Given the description of an element on the screen output the (x, y) to click on. 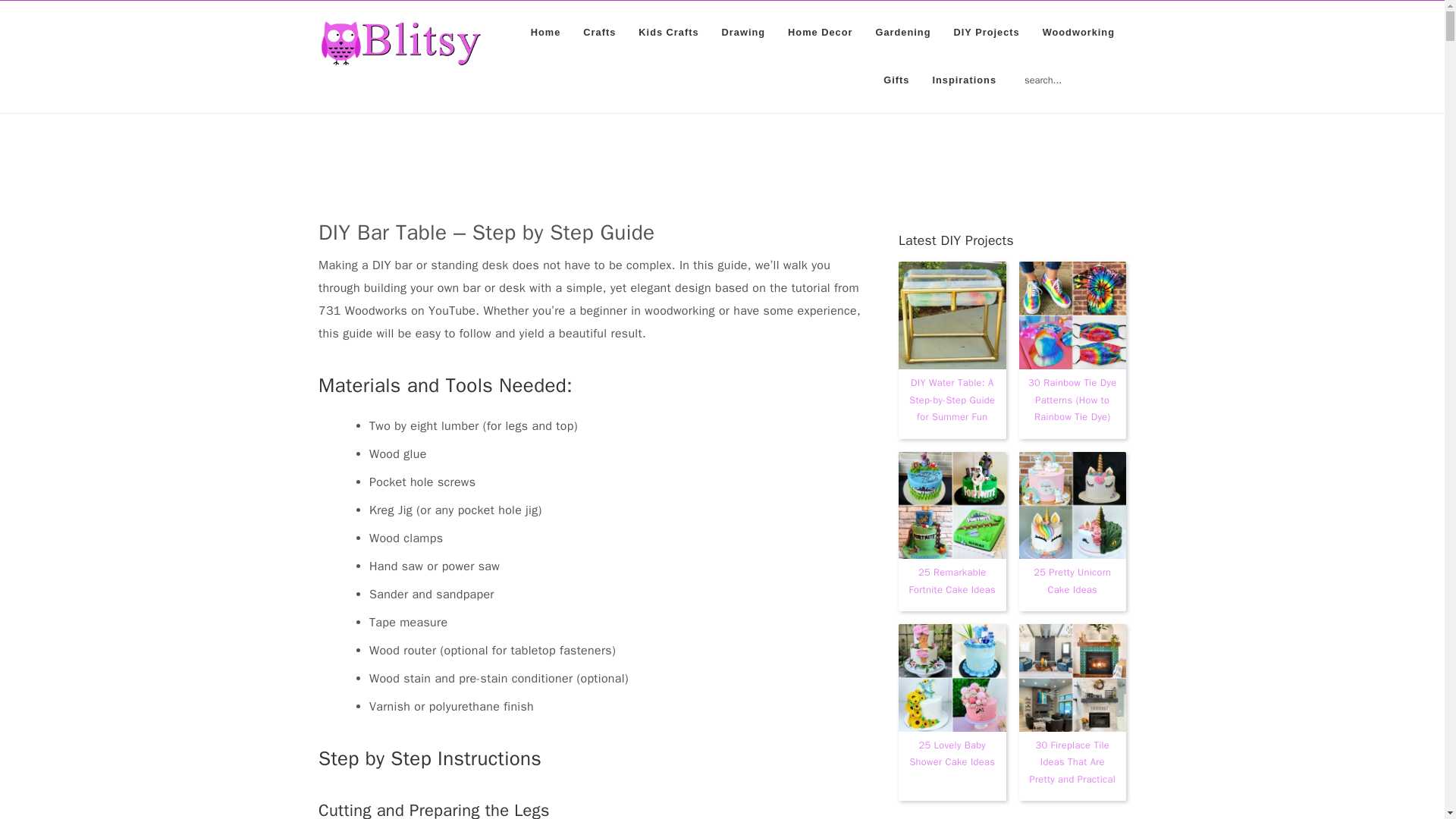
Home (545, 32)
Home Decor (819, 32)
Search (1128, 71)
Gifts (896, 80)
DIY Projects (986, 32)
Blitsy (399, 43)
Search (1128, 71)
Kids Crafts (668, 32)
Woodworking (1077, 32)
